Given the description of an element on the screen output the (x, y) to click on. 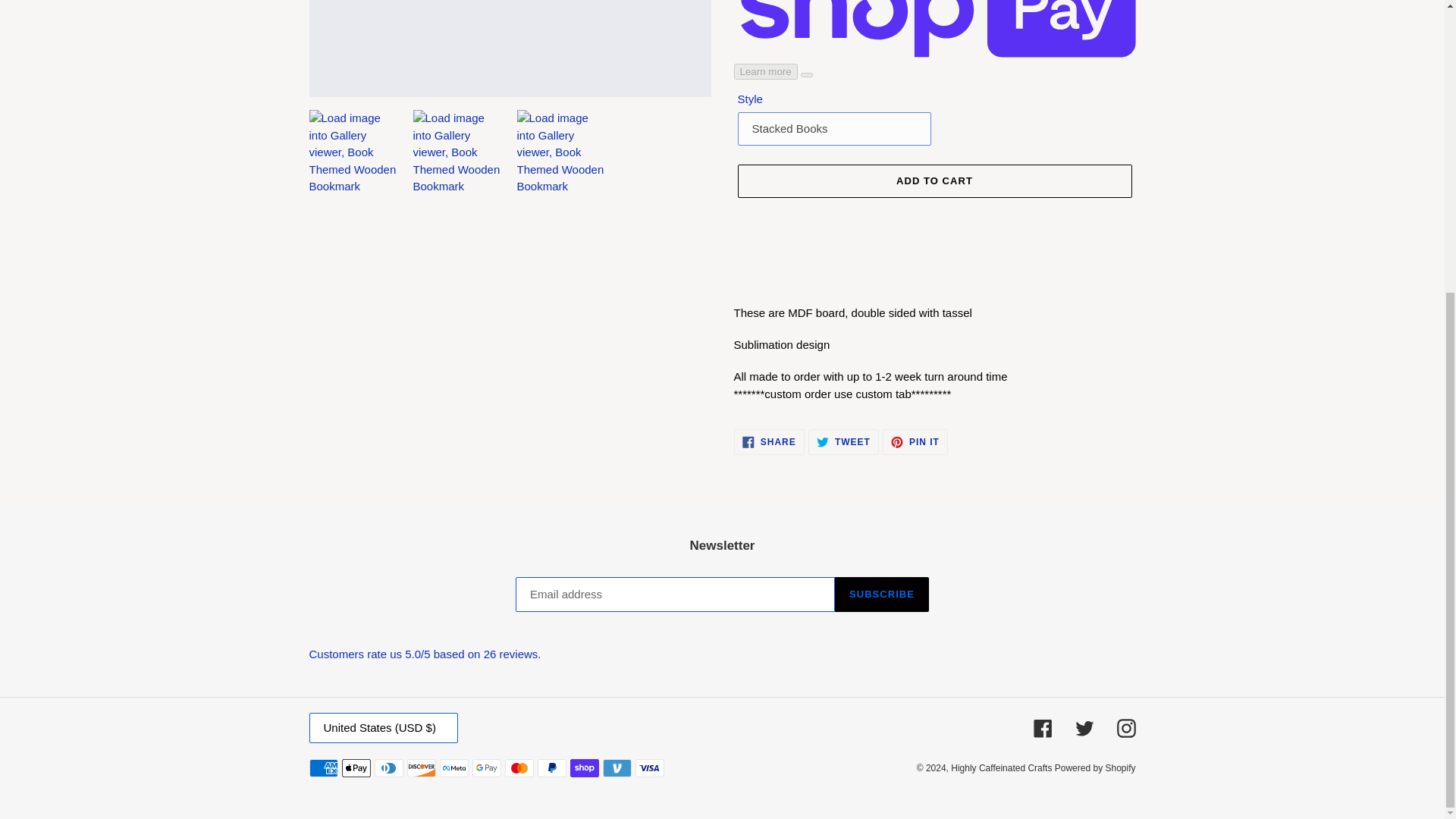
SUBSCRIBE (881, 594)
ADD TO CART (914, 442)
